Given the description of an element on the screen output the (x, y) to click on. 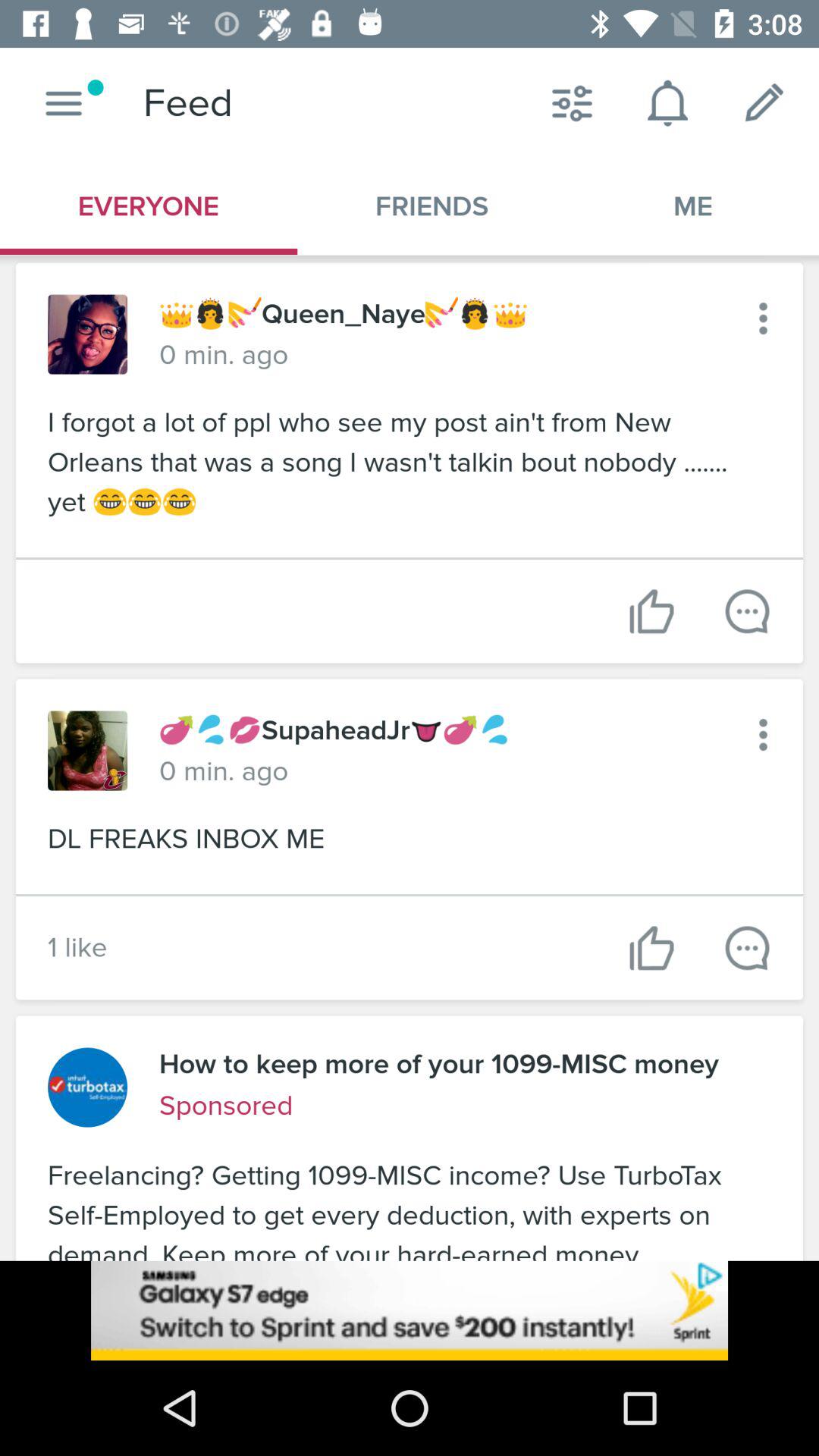
go to button (63, 103)
